Given the description of an element on the screen output the (x, y) to click on. 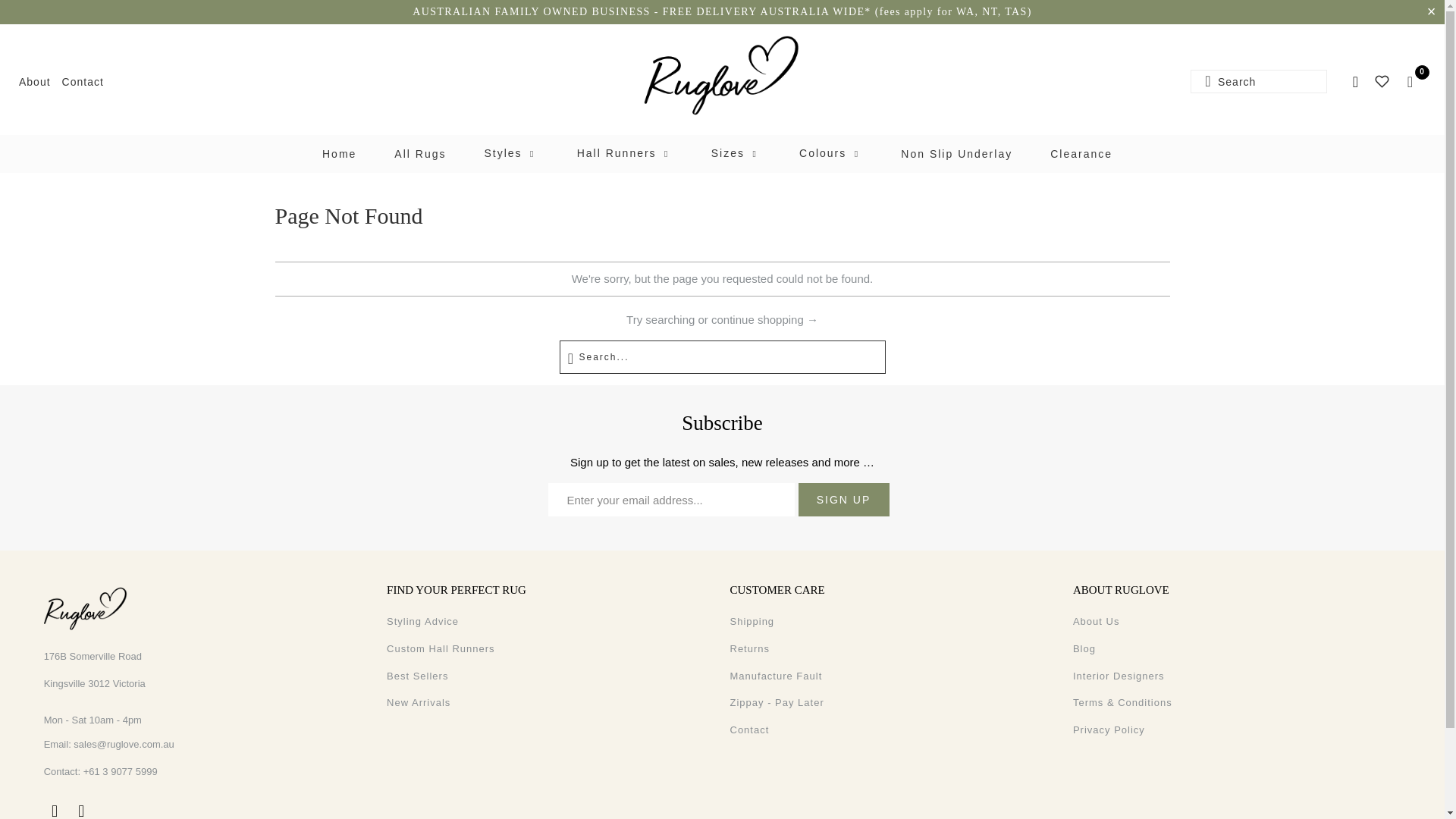
RugLove (722, 76)
My Account  (1353, 81)
RugLove on Facebook (54, 810)
RugLove on Instagram (81, 810)
Sign Up (842, 499)
